Given the description of an element on the screen output the (x, y) to click on. 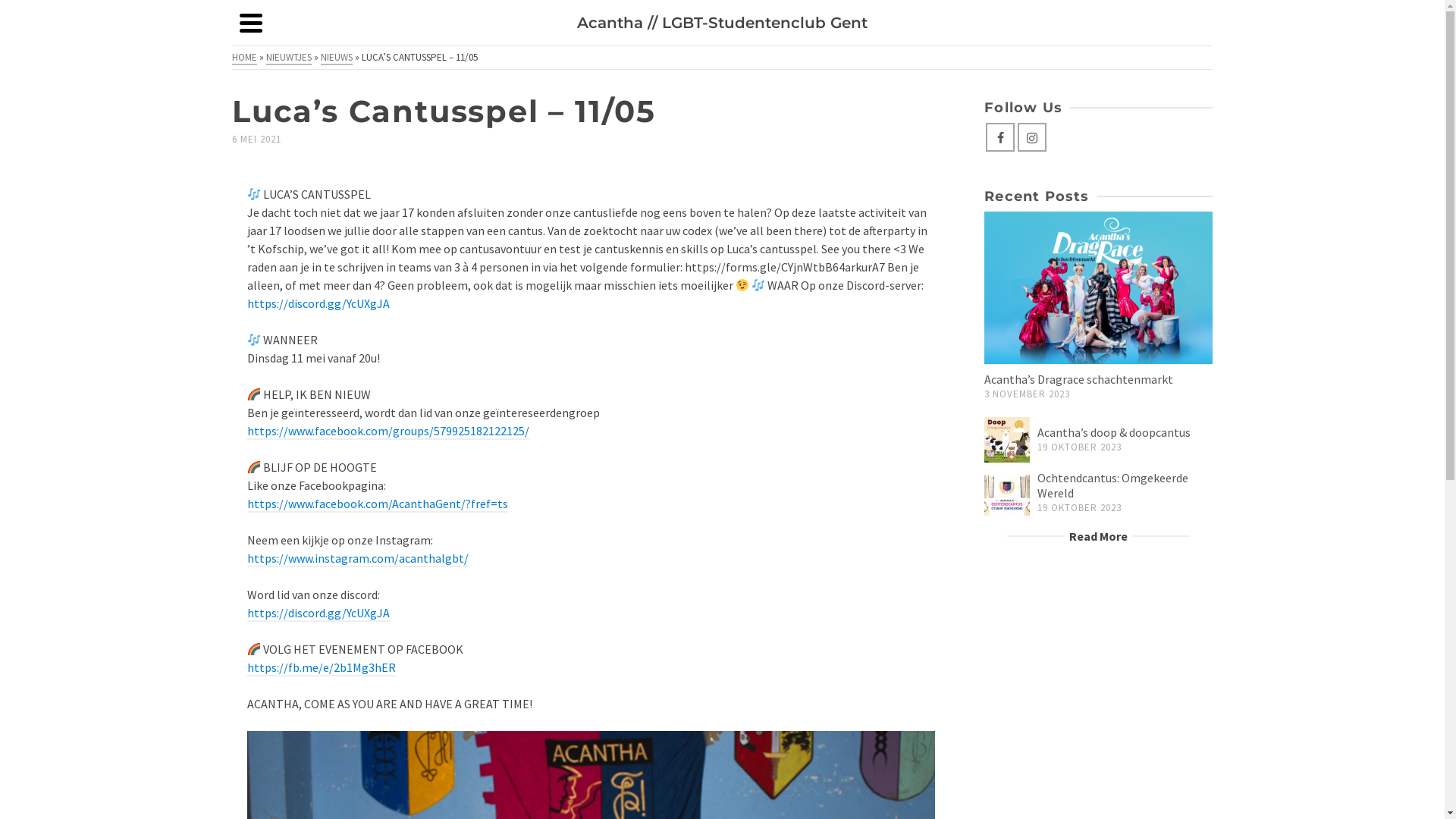
https://www.facebook.com/AcanthaGent/?fref=ts Element type: text (377, 503)
NIEUWTJES Element type: text (288, 57)
https://discord.gg/YcUXgJA Element type: text (318, 302)
Read More Element type: text (1098, 536)
NIEUWS Element type: text (336, 57)
Acantha // LGBT-Studentenclub Gent Element type: text (722, 22)
Ochtendcantus: Omgekeerde Wereld Element type: hover (1006, 492)
Ochtendcantus: Omgekeerde Wereld Element type: text (1112, 485)
https://discord.gg/YcUXgJA Element type: text (318, 613)
https://www.instagram.com/acanthalgbt/ Element type: text (357, 558)
https://www.facebook.com/groups/579925182122125/ Element type: text (388, 431)
https://fb.me/e/2b1Mg3hER Element type: text (321, 667)
HOME Element type: text (244, 57)
